Given the description of an element on the screen output the (x, y) to click on. 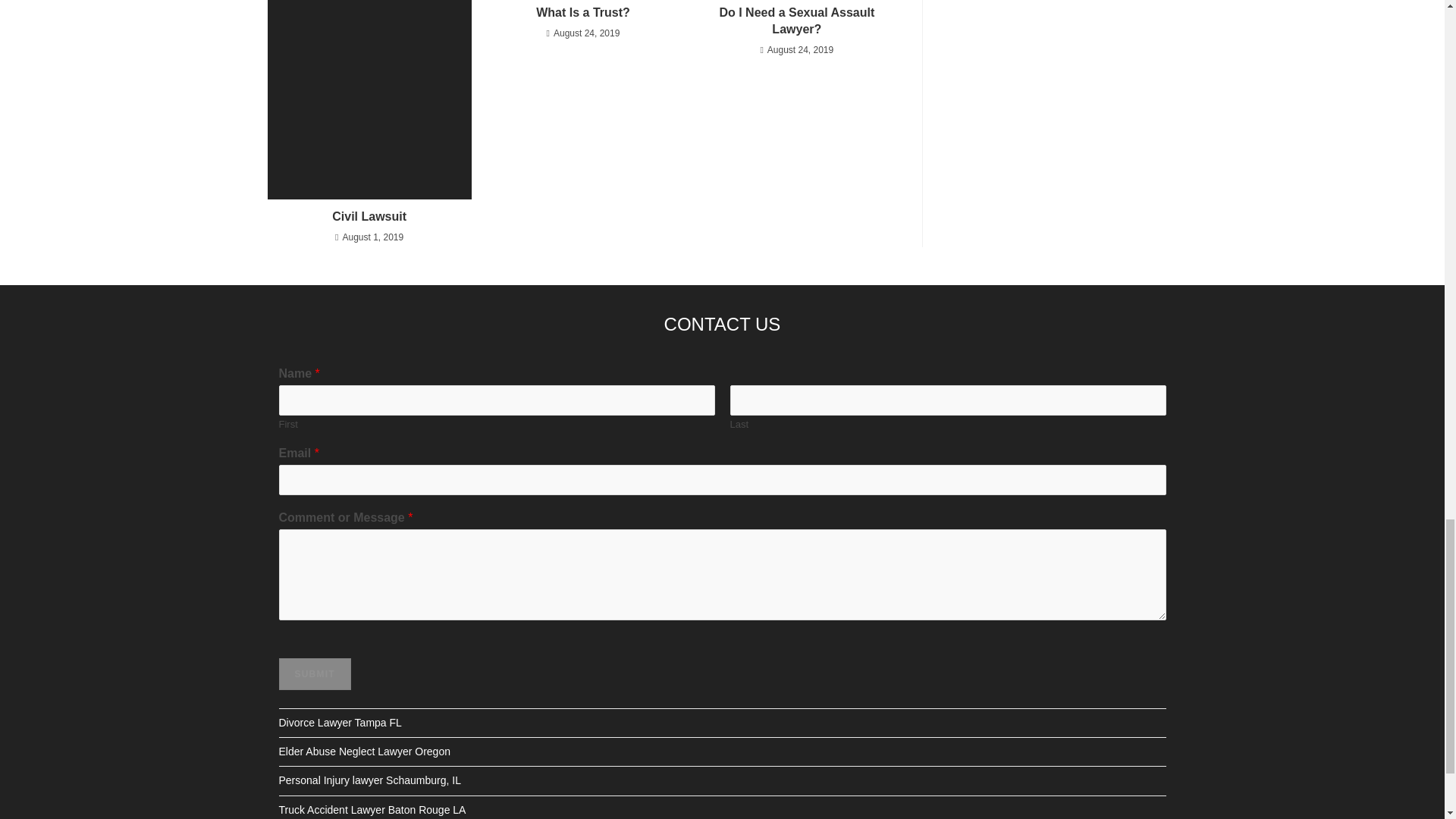
Divorce Lawyer Tampa FL (340, 722)
Personal Injury lawyer Schaumburg, IL (370, 779)
Elder Abuse Neglect Lawyer Oregon (364, 751)
Truck Accident Lawyer Baton Rouge LA (372, 809)
What Is a Trust? (582, 12)
Do I Need a Sexual Assault Lawyer? (796, 21)
SUBMIT (314, 674)
Civil Lawsuit (368, 216)
